Given the description of an element on the screen output the (x, y) to click on. 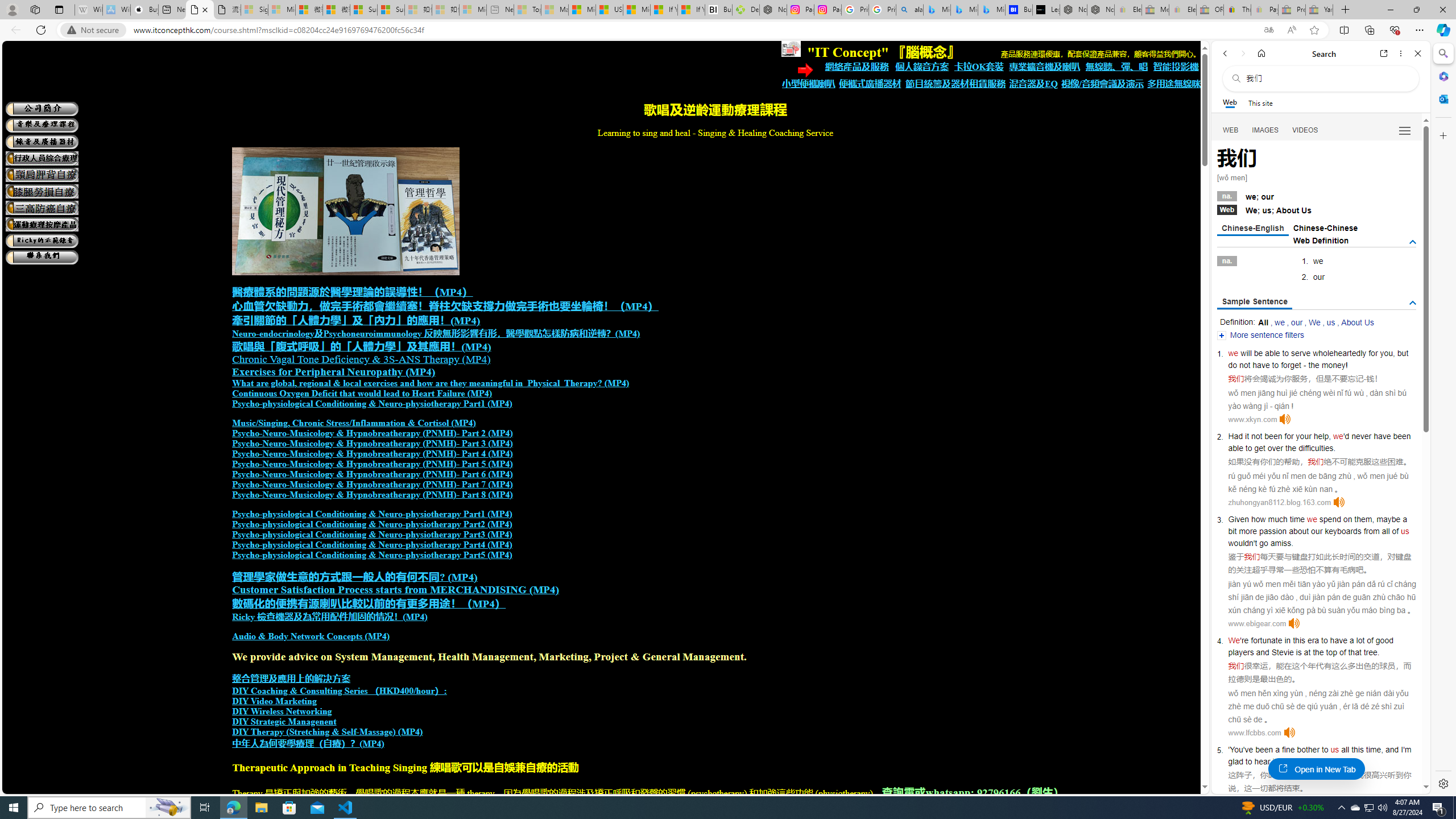
- (1364, 378)
Class: b_serphb (1404, 130)
Exercises for Peripheral Neuropathy (MP4) (333, 372)
for (1372, 352)
Microsoft account | Account Checkup - Sleeping (473, 9)
money (1332, 364)
top (1331, 651)
This site scope (1259, 102)
